Given the description of an element on the screen output the (x, y) to click on. 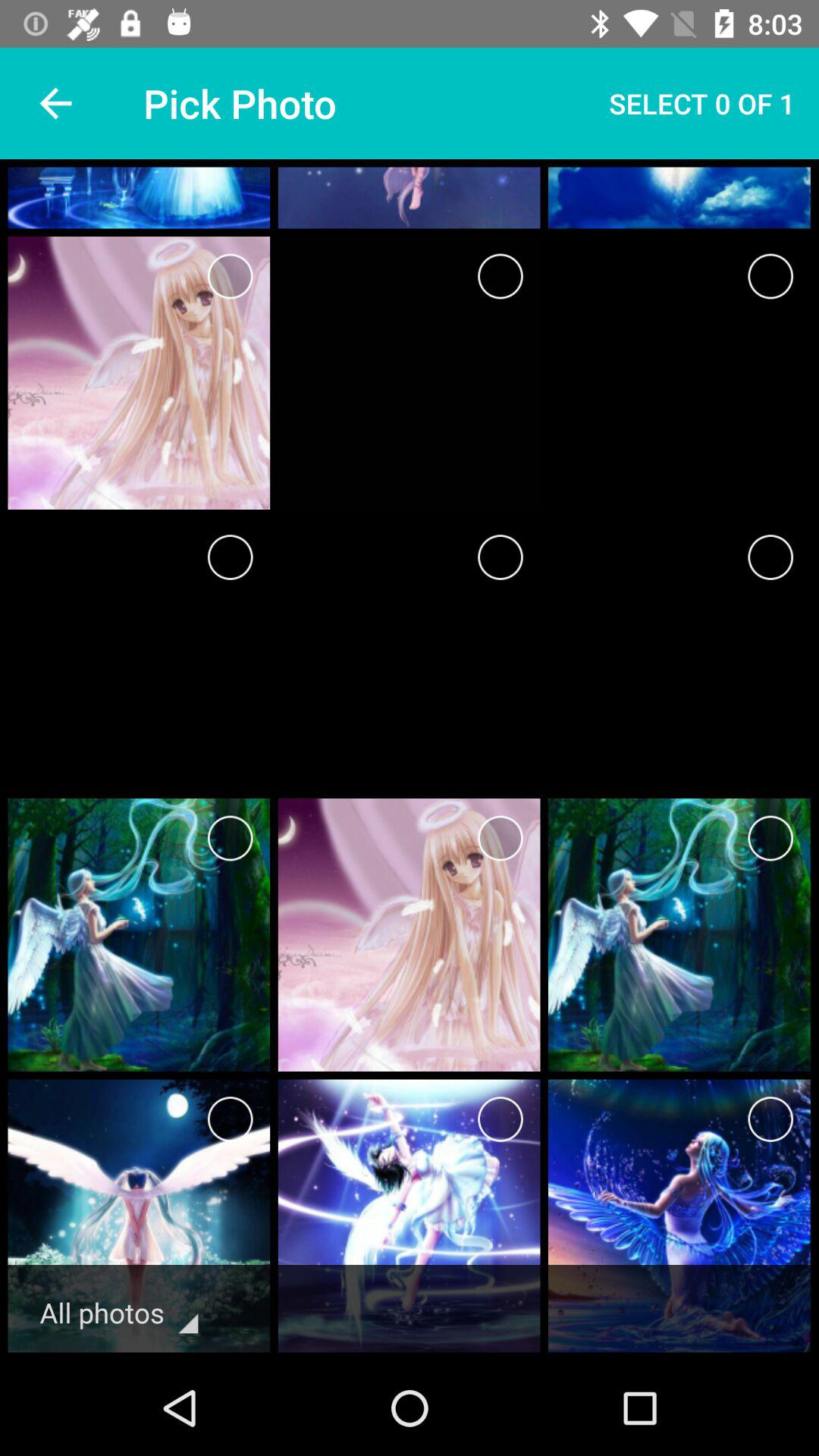
click to select (500, 838)
